Given the description of an element on the screen output the (x, y) to click on. 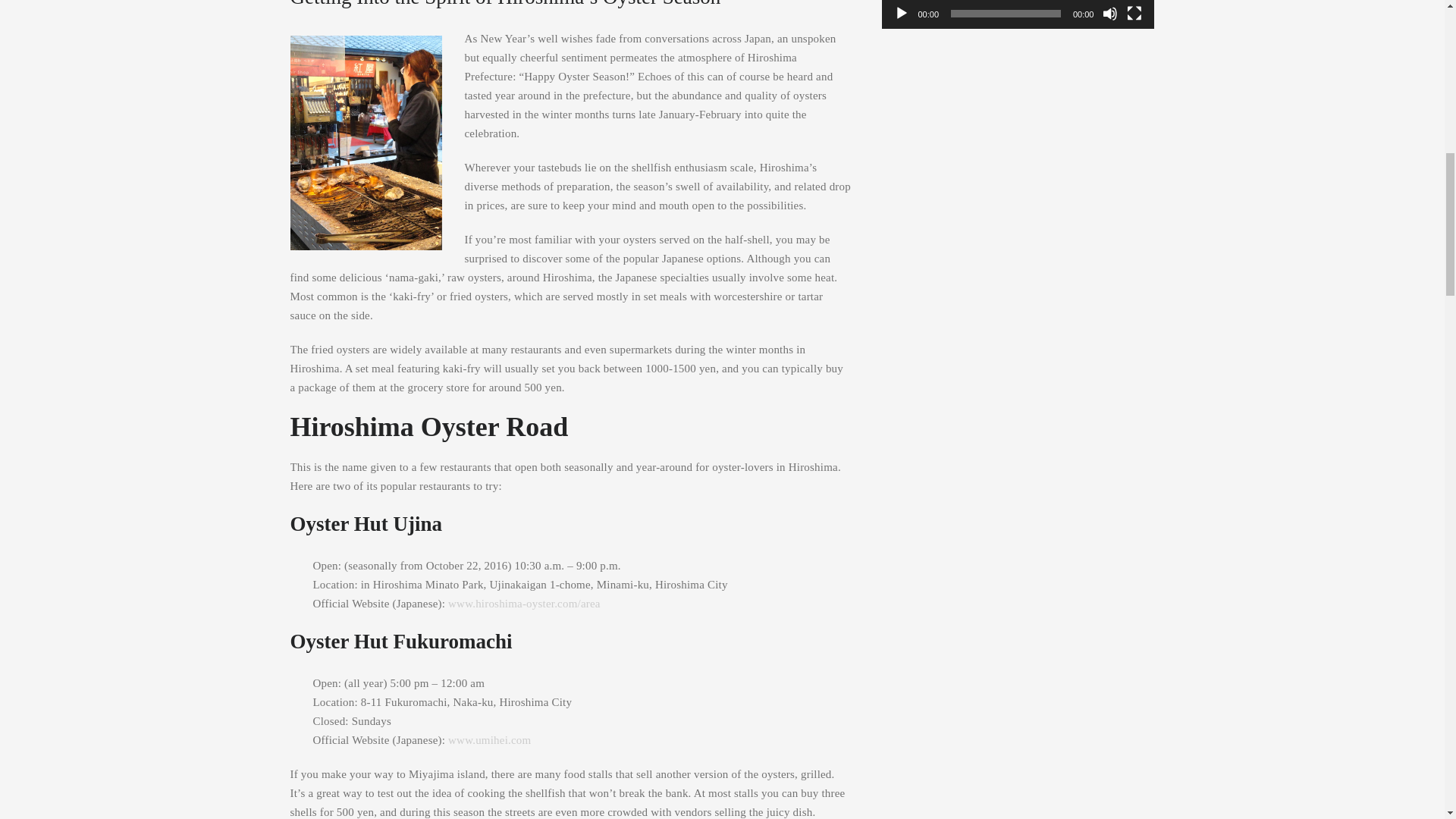
Fullscreen (1133, 13)
Mute (1110, 13)
Play (900, 13)
